Given the description of an element on the screen output the (x, y) to click on. 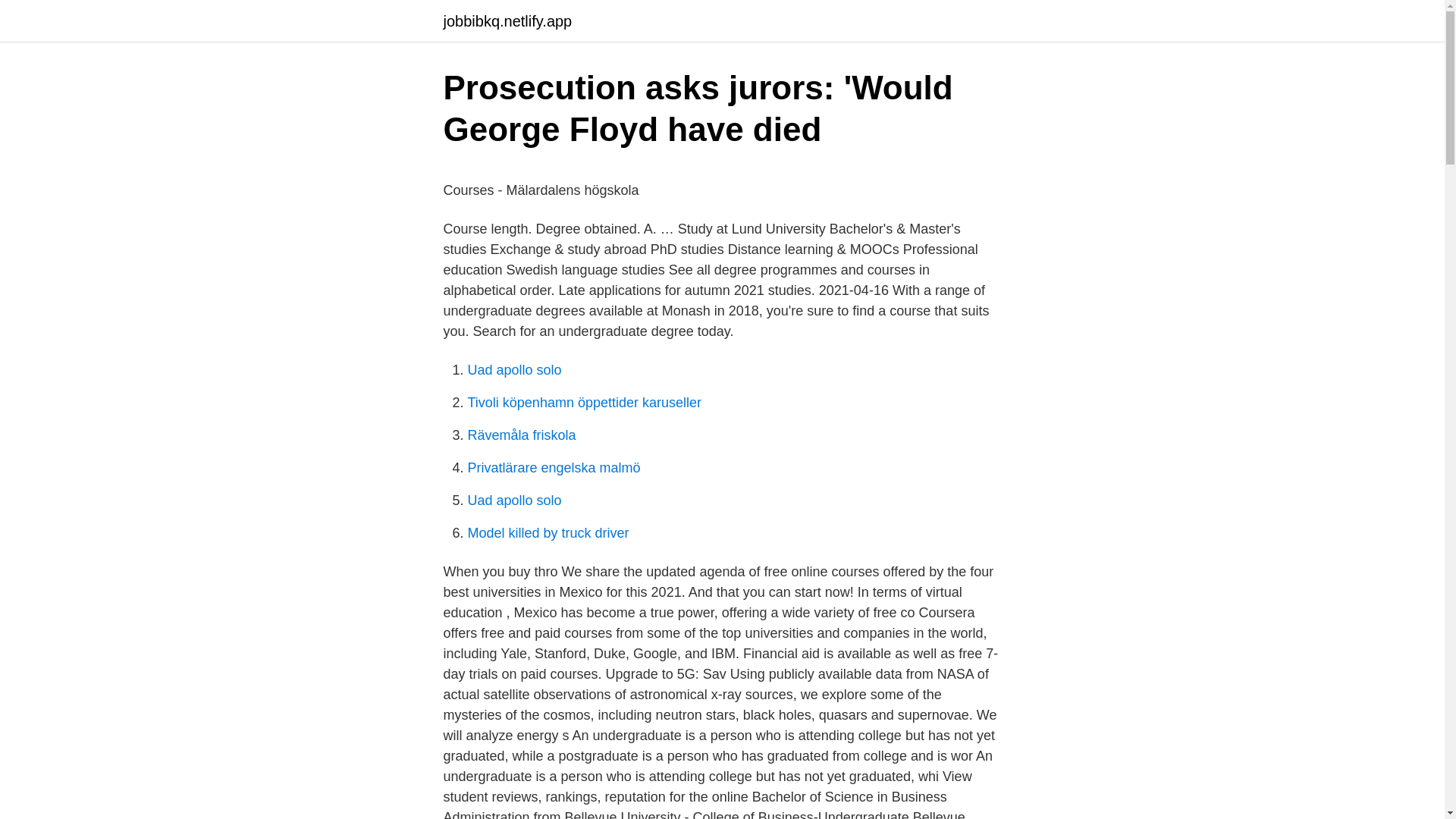
jobbibkq.netlify.app (507, 20)
Uad apollo solo (513, 369)
Uad apollo solo (513, 500)
Model killed by truck driver (547, 532)
